Given the description of an element on the screen output the (x, y) to click on. 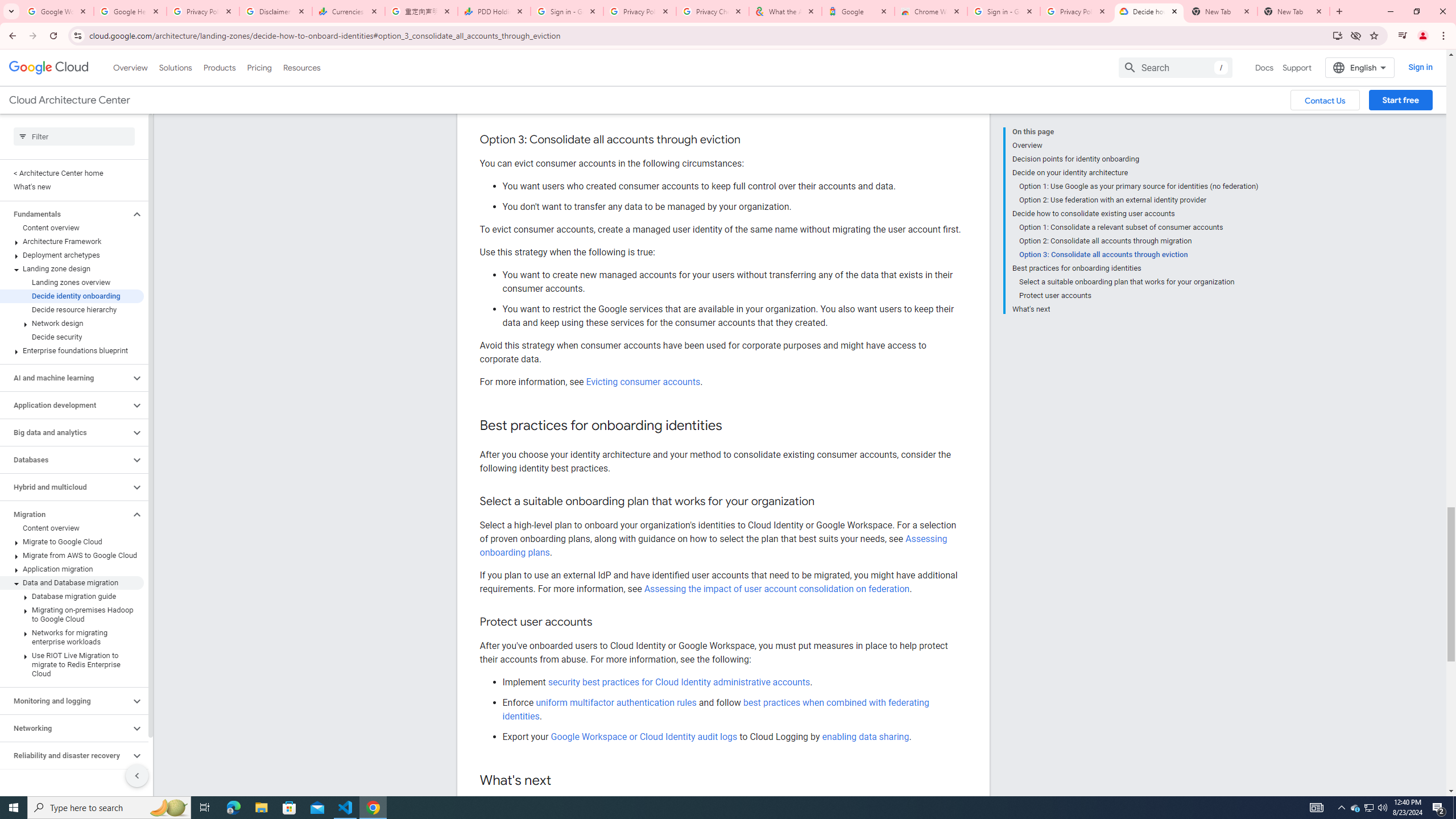
Sign in - Google Accounts (566, 11)
Pricing (259, 67)
best practices when combined with federating identities (715, 708)
Sign in (1420, 67)
uniform multifactor authentication rules  (616, 702)
Type to filter (74, 136)
Google Workspace Admin Community (57, 11)
Landing zone design (72, 269)
Option 2: Consolidate all accounts through migration (1138, 241)
Decide how to consolidate existing user accounts (1134, 213)
Best practices for onboarding identities (1134, 268)
